Given the description of an element on the screen output the (x, y) to click on. 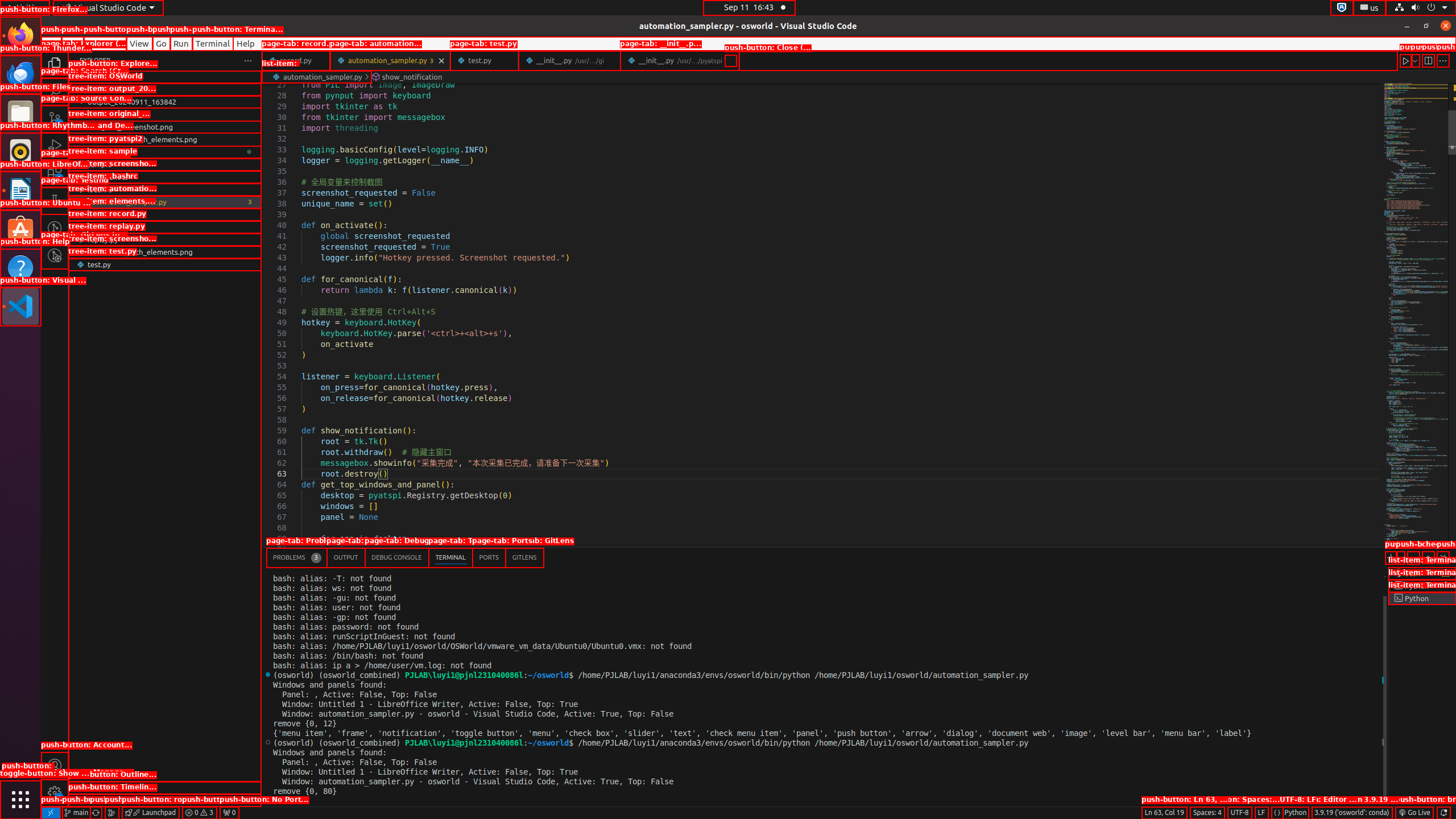
Go Element type: push-button (161, 43)
Run Python File Element type: push-button (1405, 60)
OSWorld (Git) - main, Checkout Branch/Tag... Element type: push-button (75, 812)
replay.py Element type: tree-item (164, 239)
remote Element type: push-button (50, 812)
